Given the description of an element on the screen output the (x, y) to click on. 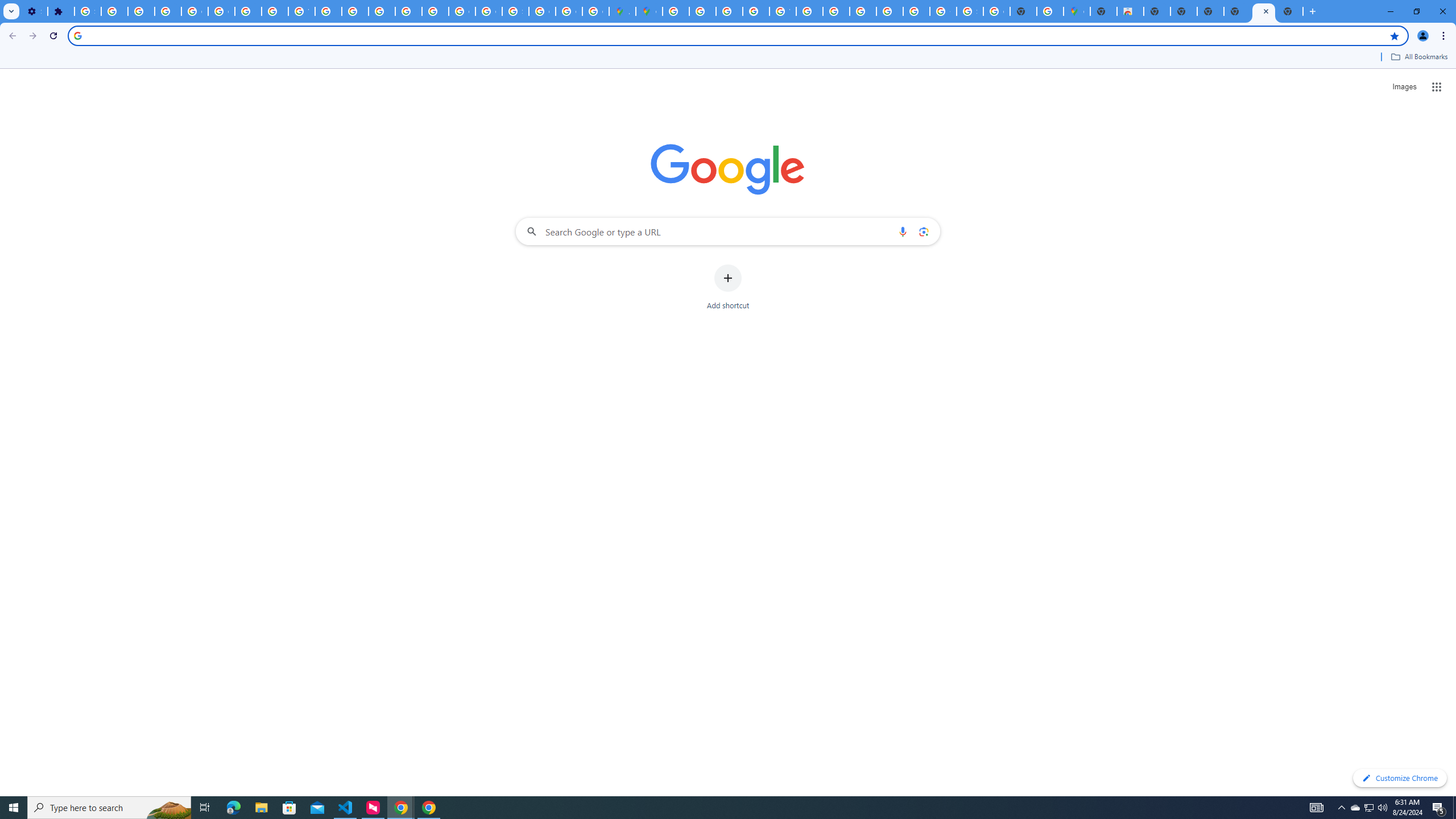
Learn how to find your photos - Google Photos Help (141, 11)
Create your Google Account (595, 11)
New Tab (1236, 11)
Explore new street-level details - Google Maps Help (1050, 11)
Google Maps (1076, 11)
Sign in - Google Accounts (970, 11)
